Given the description of an element on the screen output the (x, y) to click on. 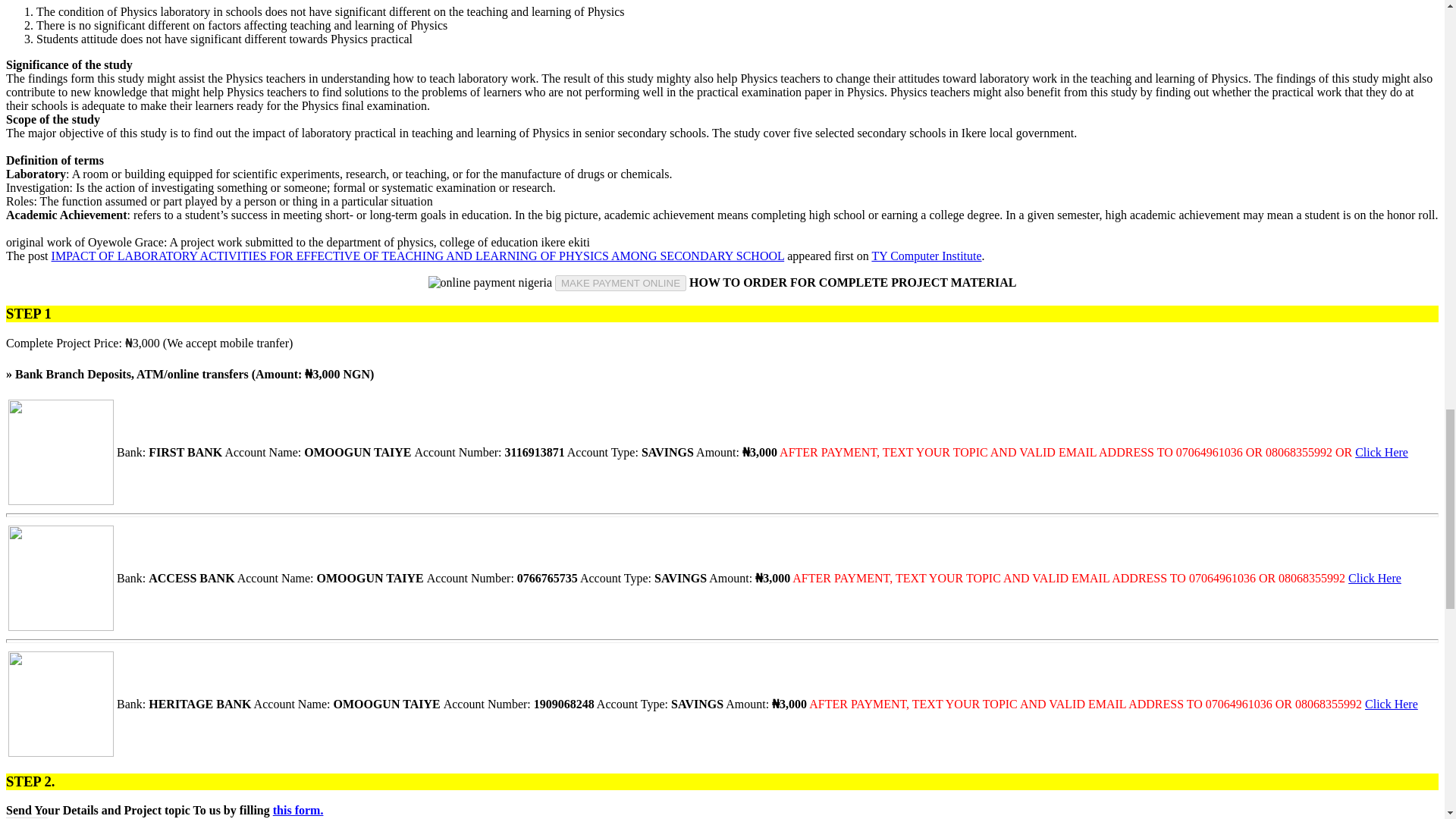
this form. (298, 809)
Click Here (1381, 451)
MAKE PAYMENT ONLINE (619, 283)
TY Computer Institute (925, 255)
Click Here (1374, 577)
Click Here (1391, 703)
MAKE PAYMENT ONLINE (619, 283)
